Given the description of an element on the screen output the (x, y) to click on. 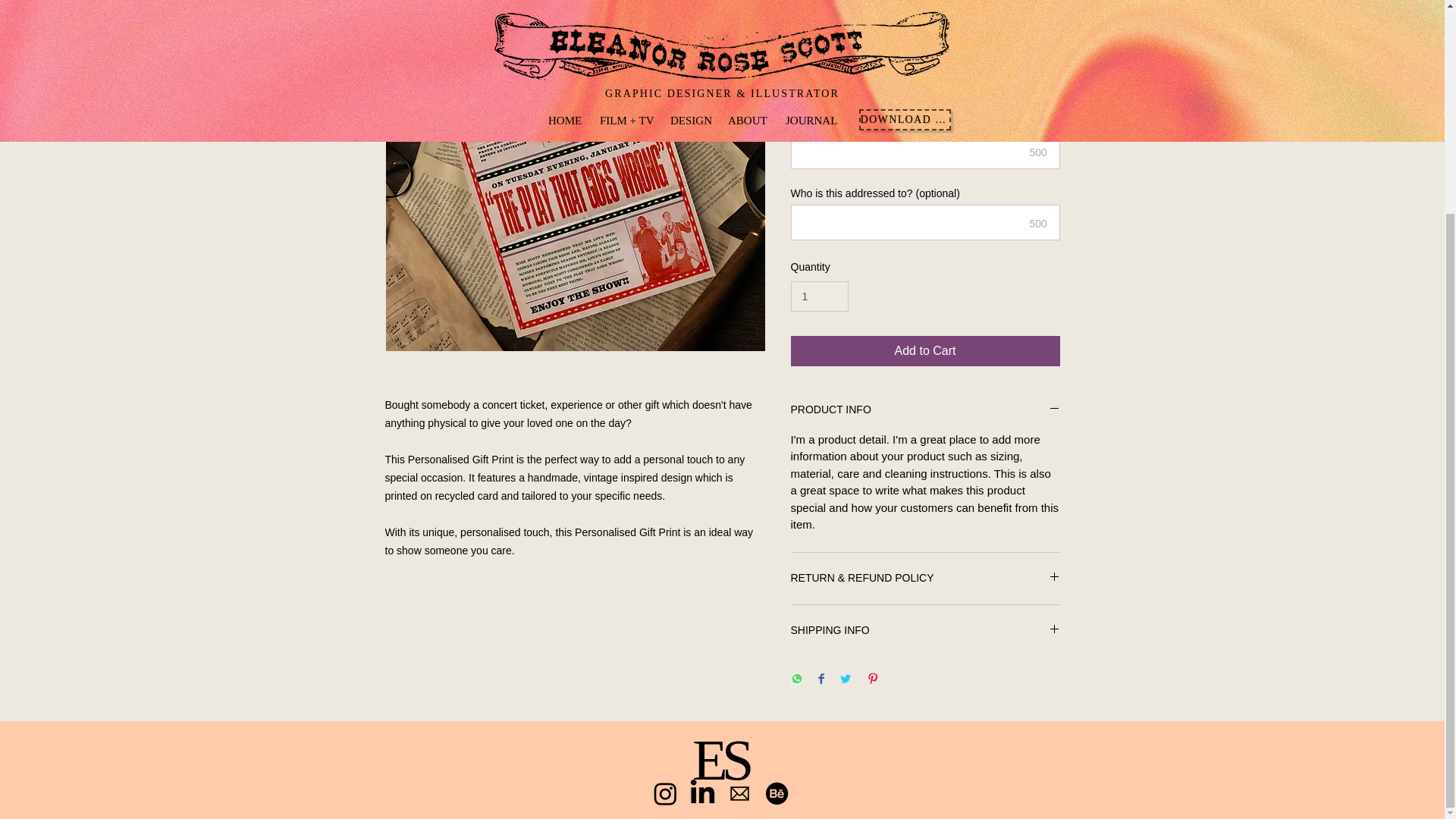
Add to Cart (924, 350)
PRODUCT INFO (924, 410)
SHIPPING INFO (924, 631)
1 (818, 296)
